Given the description of an element on the screen output the (x, y) to click on. 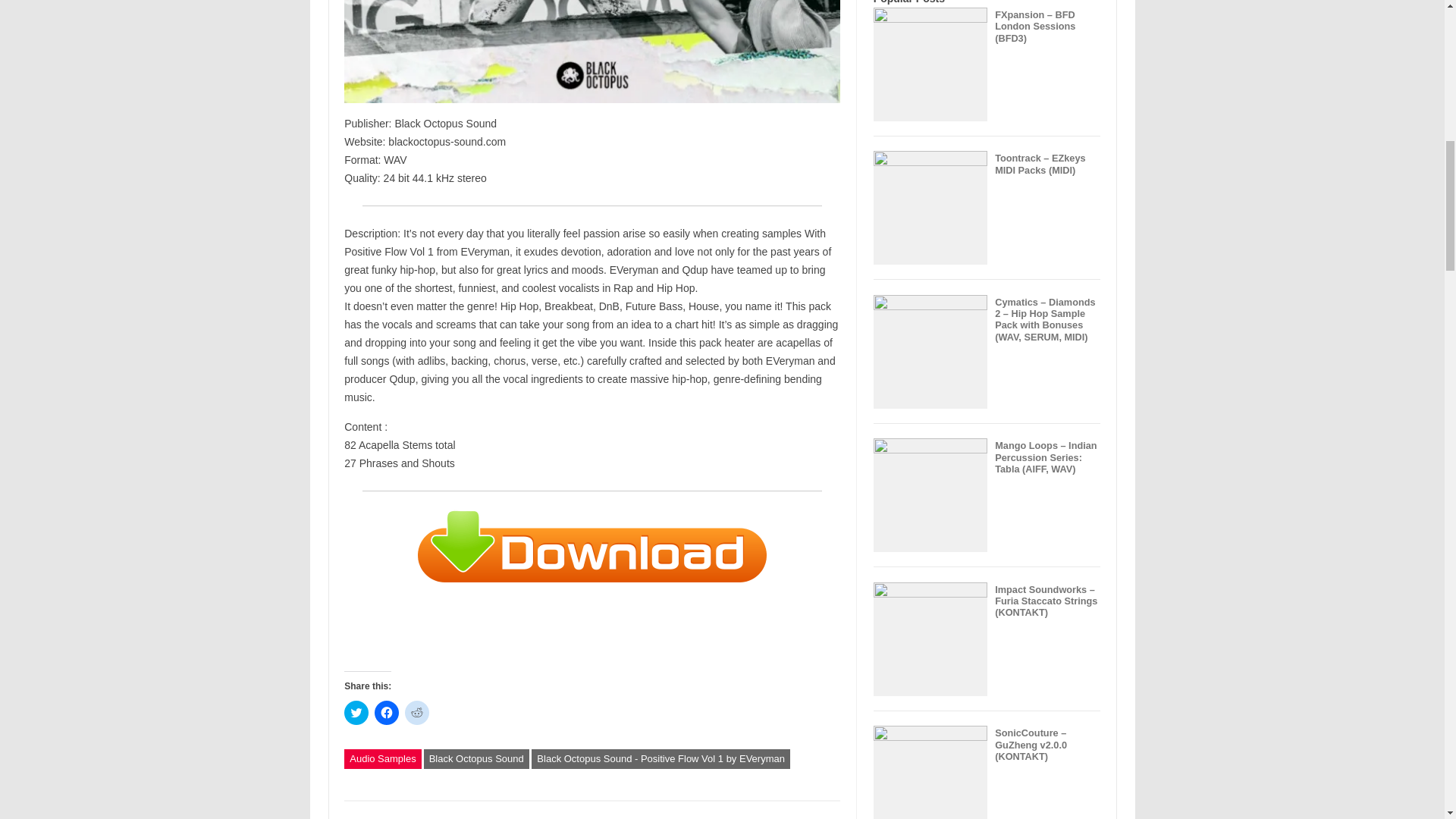
Click to share on Reddit (416, 712)
Audio Samples (381, 759)
Click to share on Facebook (386, 712)
Black Octopus Sound - Positive Flow Vol 1 by EVeryman (660, 759)
Click to share on Twitter (355, 712)
Black Octopus Sound (476, 759)
